Given the description of an element on the screen output the (x, y) to click on. 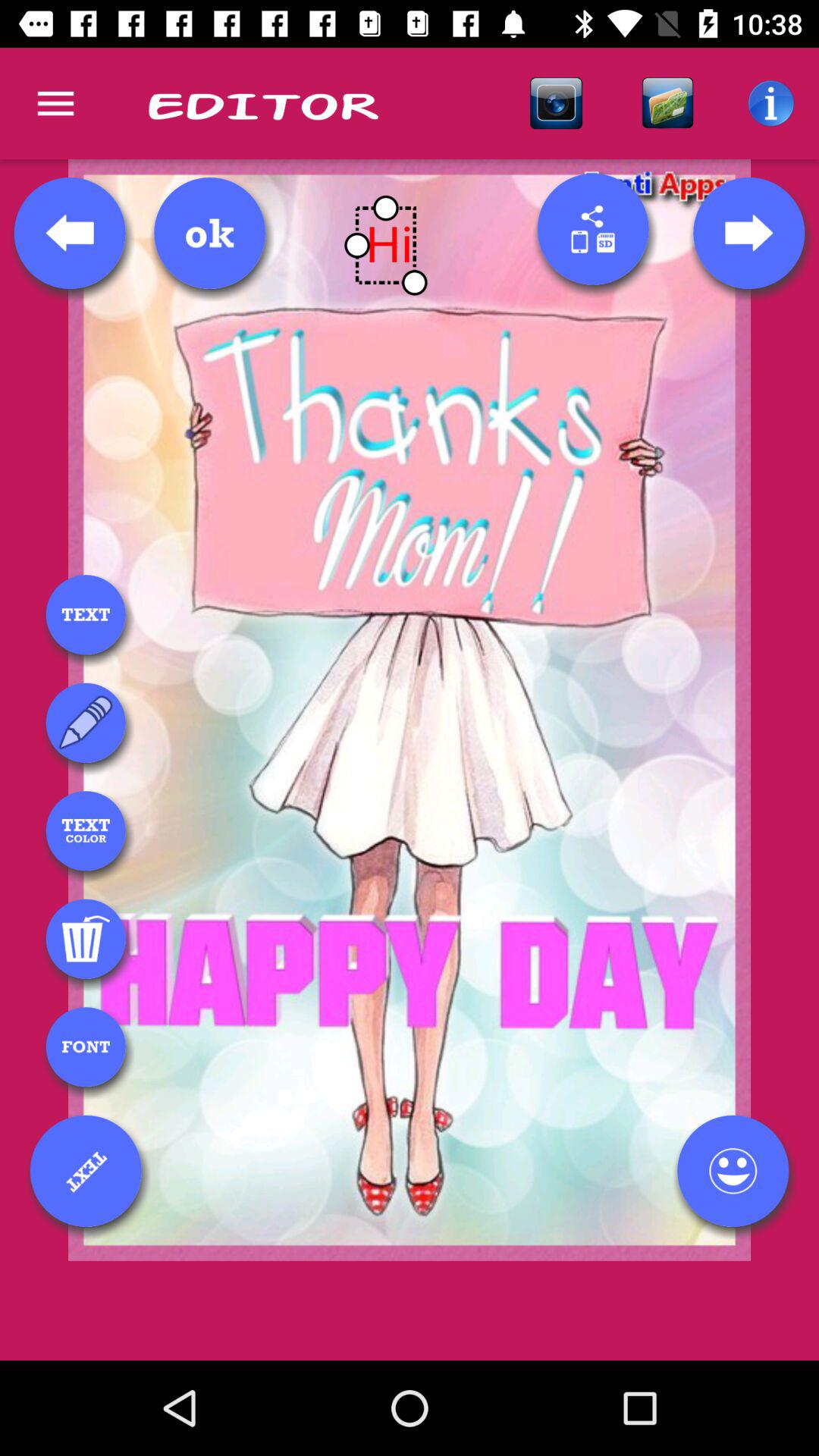
press the icon to the left of editor (55, 103)
